Given the description of an element on the screen output the (x, y) to click on. 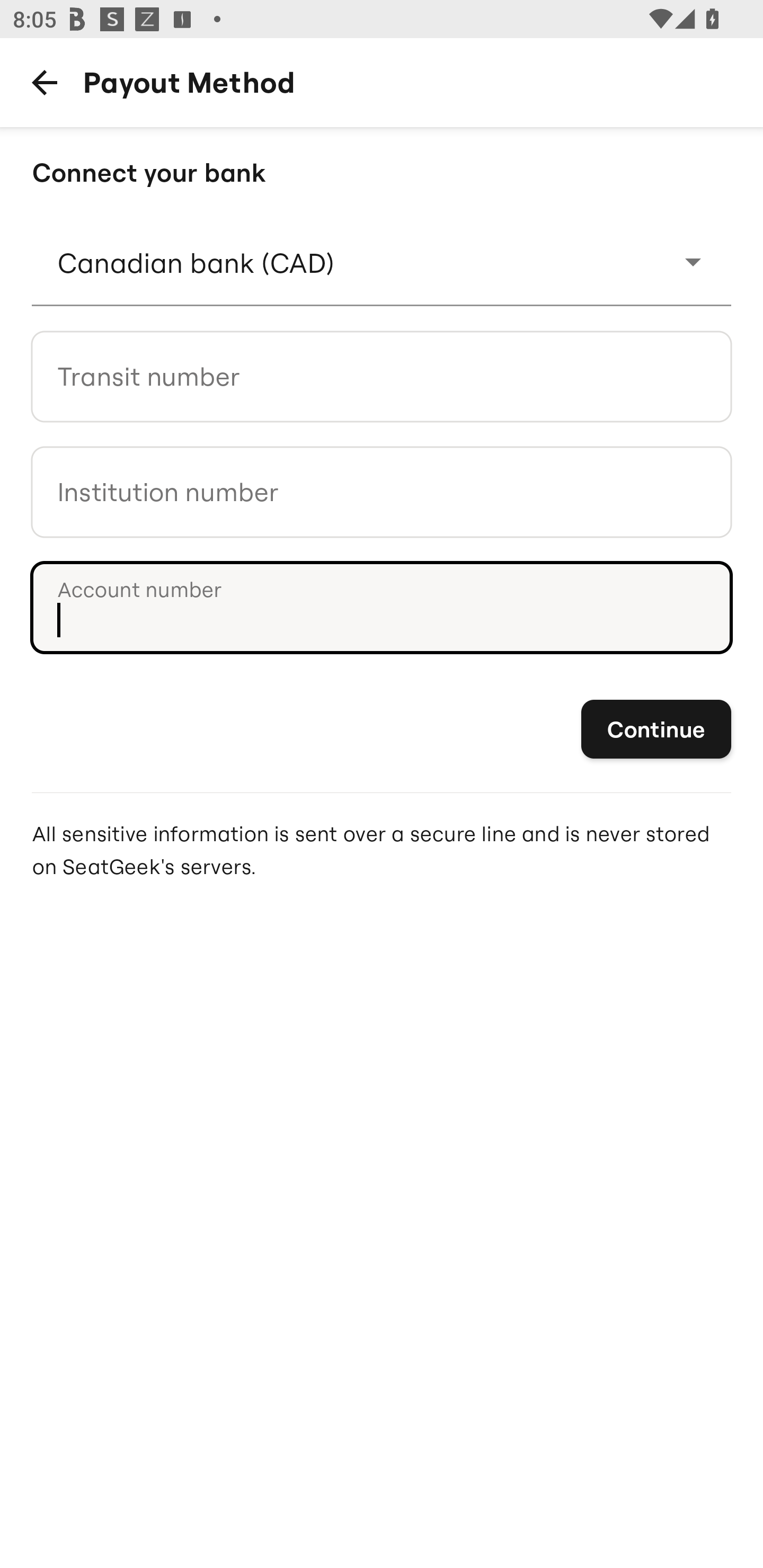
Back (44, 81)
Dropdown menu Canadian bank (CAD) (381, 261)
Transit number (381, 375)
Institution number (381, 491)
Account number (381, 607)
Continue (655, 729)
